Given the description of an element on the screen output the (x, y) to click on. 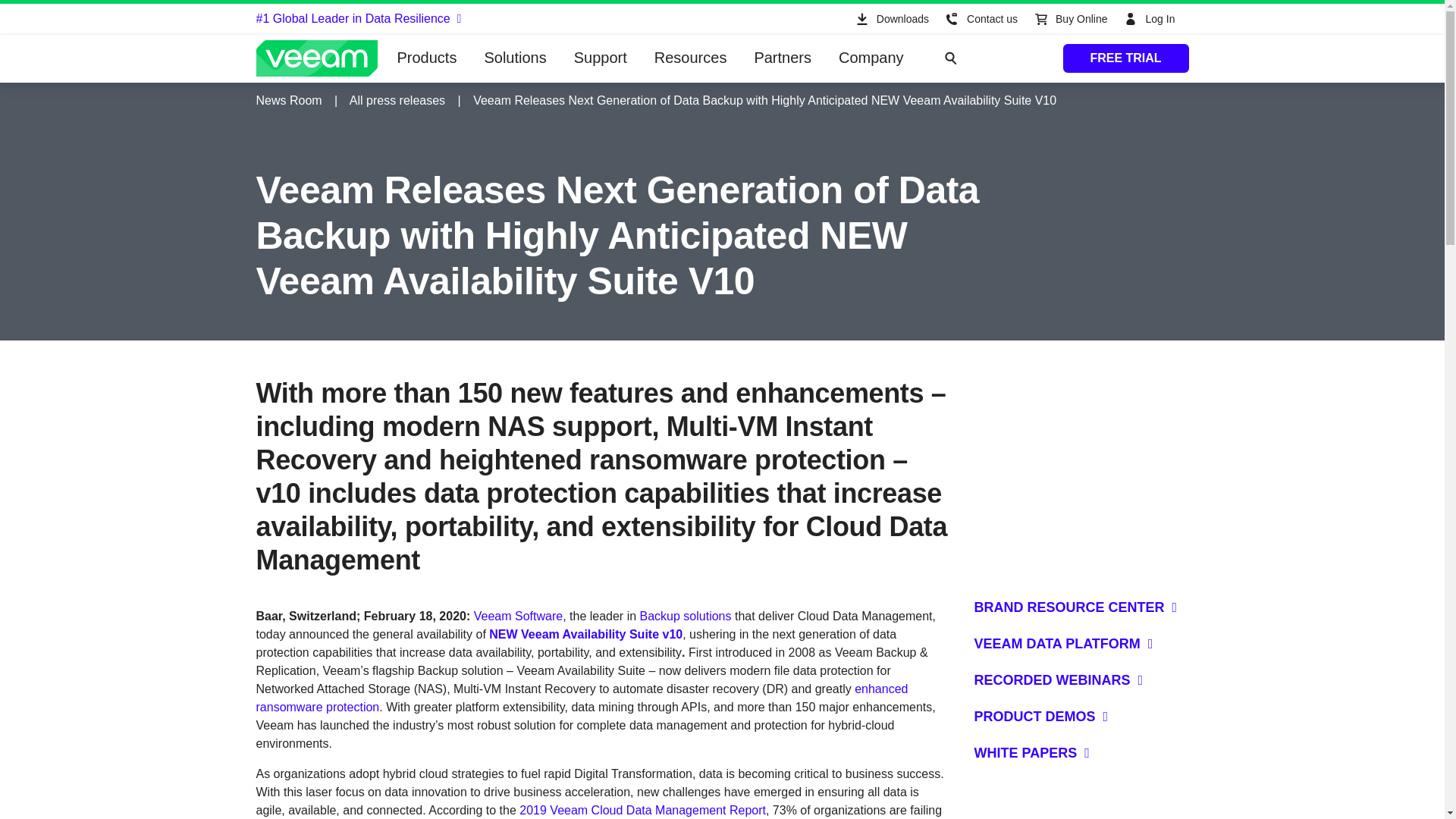
Log In (1151, 19)
Contact us (980, 19)
Buy Online (1070, 19)
Downloads (890, 19)
Products (427, 58)
